Given the description of an element on the screen output the (x, y) to click on. 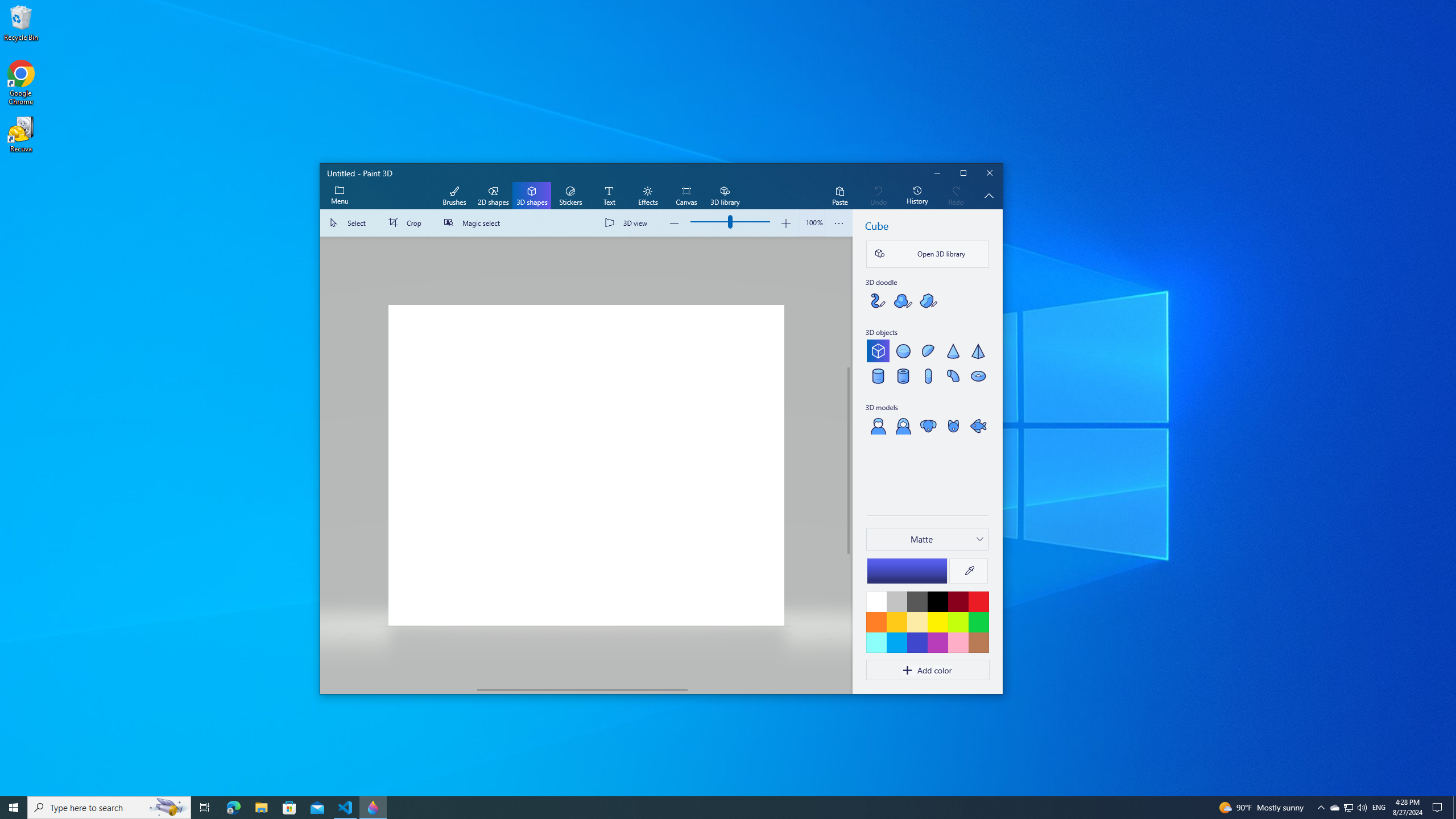
Hemisphere (928, 350)
3D library (725, 195)
Horizontal (582, 689)
3D shapes (531, 195)
Redo (955, 195)
Choose a material (927, 538)
White (876, 601)
Aqua (876, 642)
Canvas (686, 195)
Light yellow (917, 621)
Capsule (928, 375)
Effects (647, 195)
Vertical (848, 460)
Zoom out (674, 222)
